Given the description of an element on the screen output the (x, y) to click on. 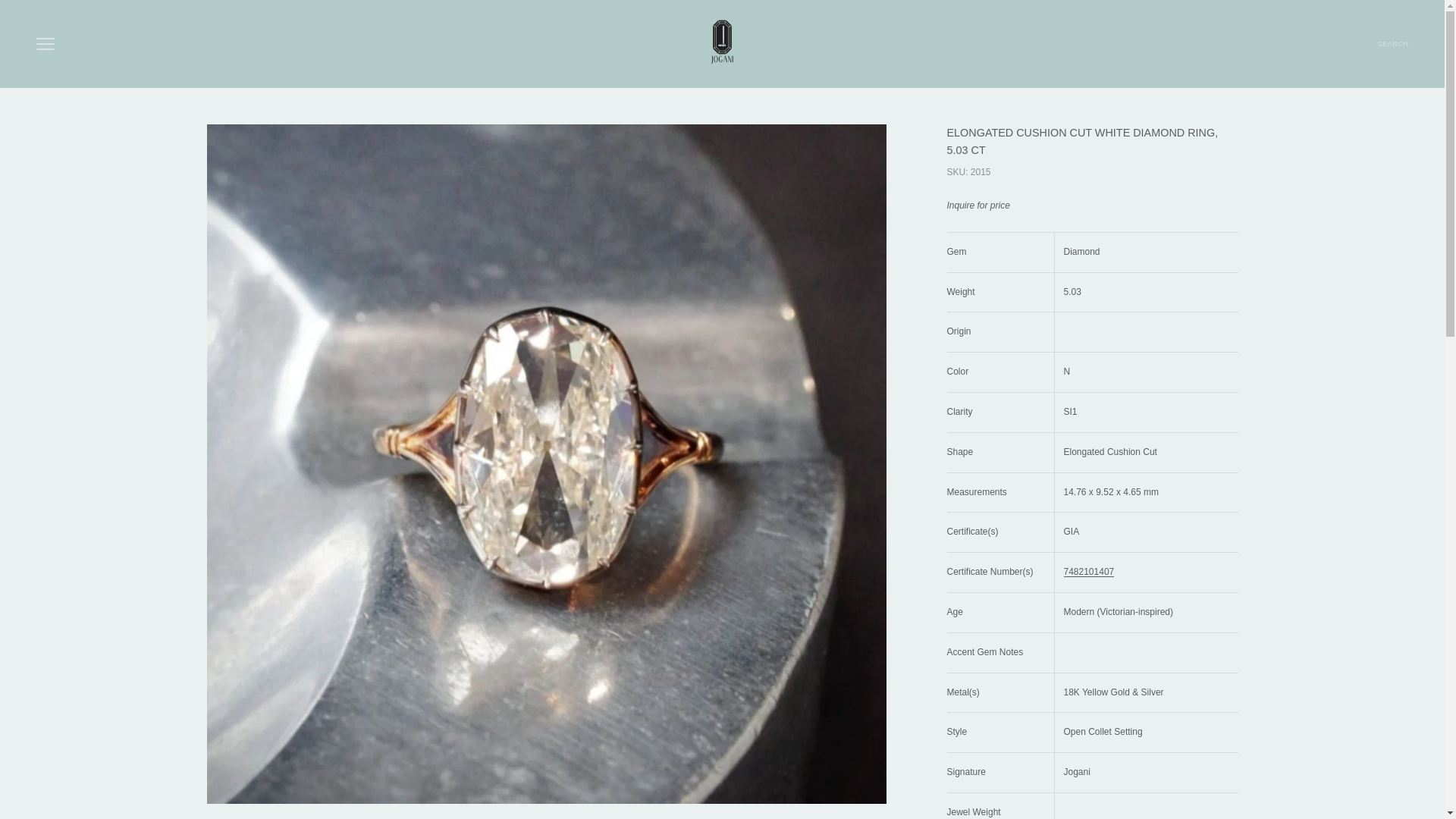
GIA Report (1087, 571)
Open navigation menu (45, 44)
Inquire for price (977, 204)
Jogani (1392, 43)
7482101407 (721, 43)
